Given the description of an element on the screen output the (x, y) to click on. 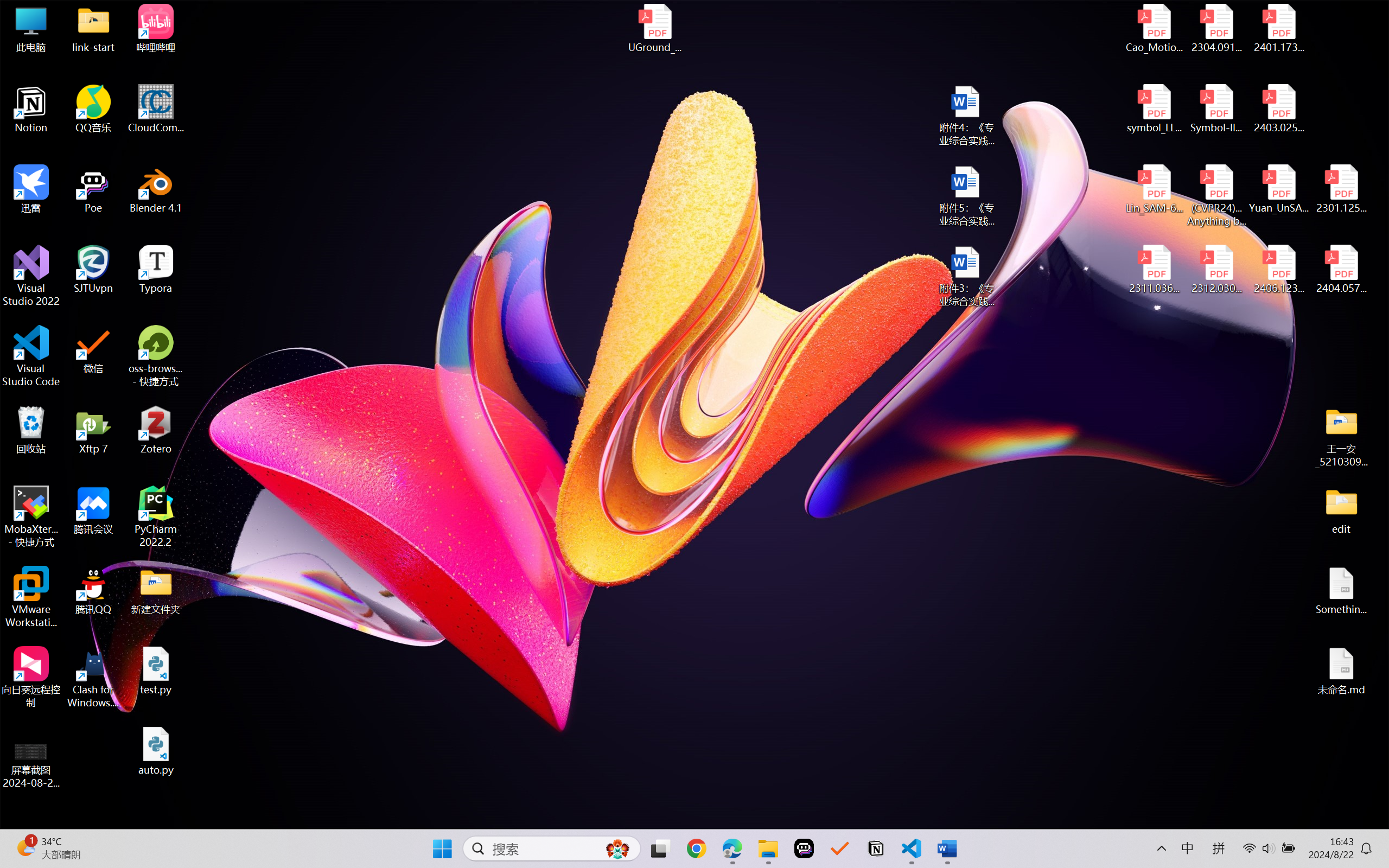
Blender 4.1 (156, 189)
UGround_paper.pdf (654, 28)
Google Chrome (696, 848)
2403.02502v1.pdf (1278, 109)
